Given the description of an element on the screen output the (x, y) to click on. 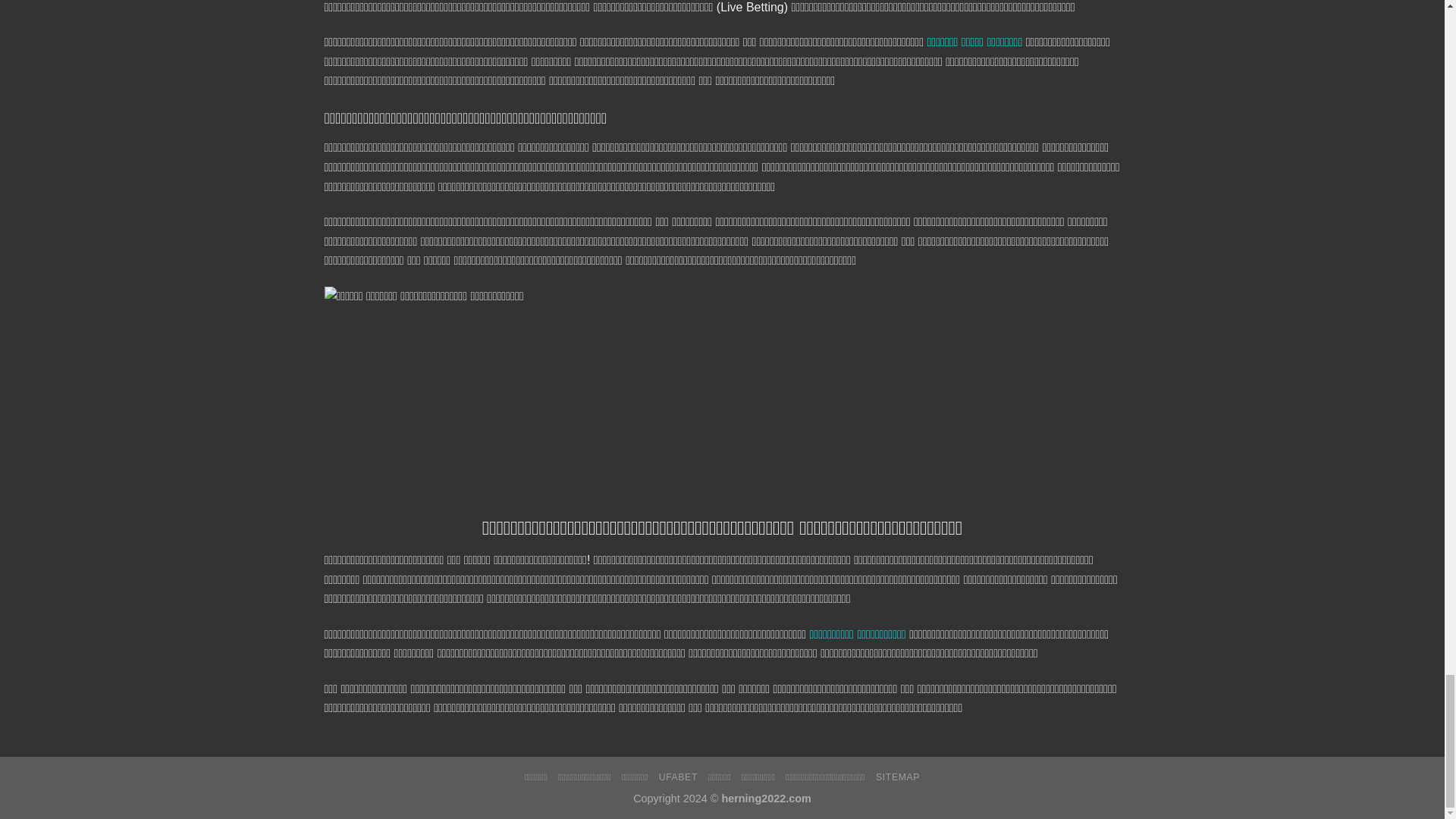
UFABET (678, 777)
SITEMAP (898, 777)
